Given the description of an element on the screen output the (x, y) to click on. 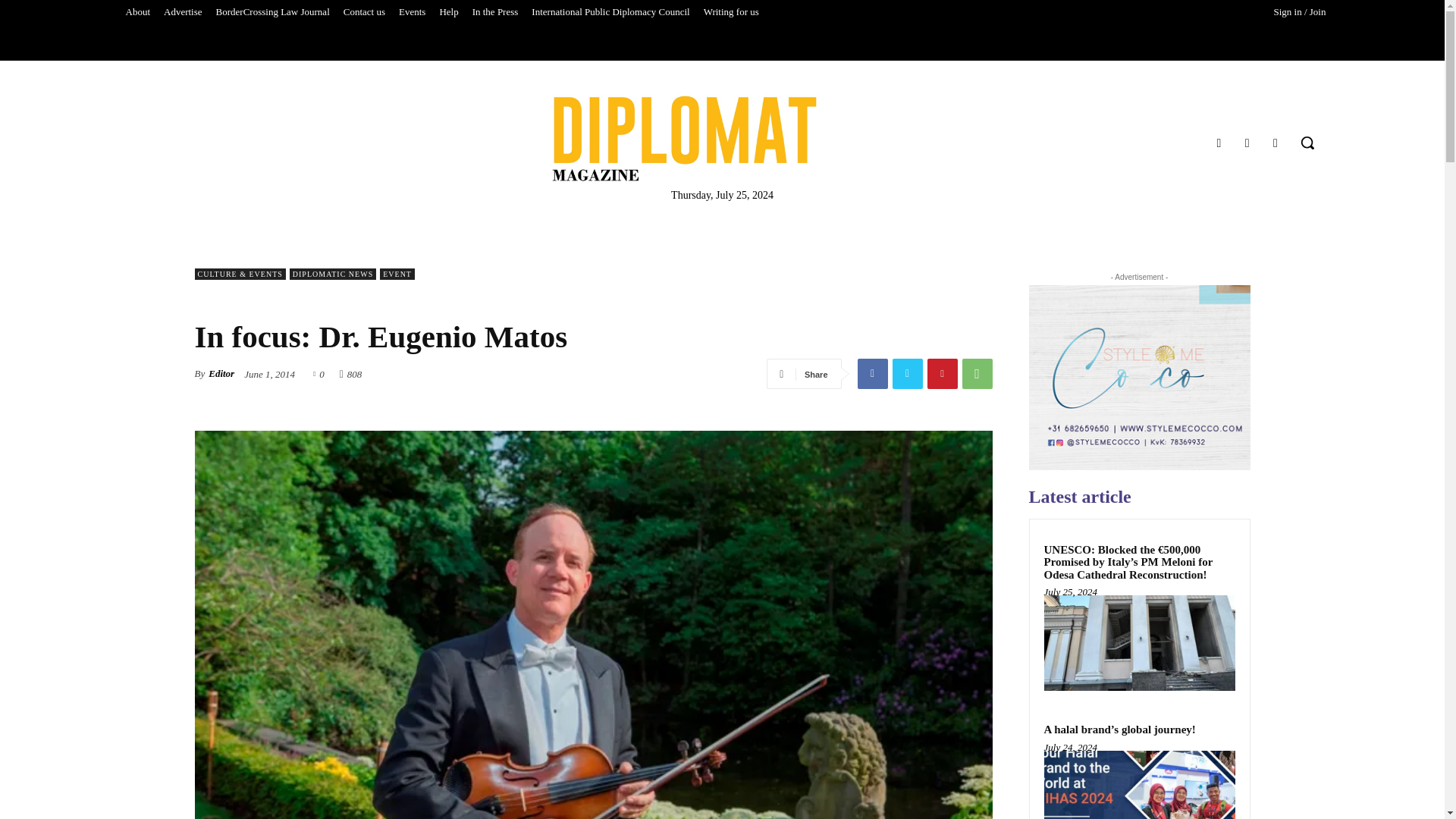
Facebook (1218, 142)
Help (448, 12)
Instagram (1246, 142)
International Public Diplomacy Council (609, 12)
Diplomat Magazine (683, 138)
Writing for us (731, 12)
Diplomat Magazine (721, 138)
Events (411, 12)
Twitter (1275, 142)
BorderCrossing Law Journal (272, 12)
Contact us (363, 12)
About (137, 12)
In the Press (495, 12)
Advertise (183, 12)
